Given the description of an element on the screen output the (x, y) to click on. 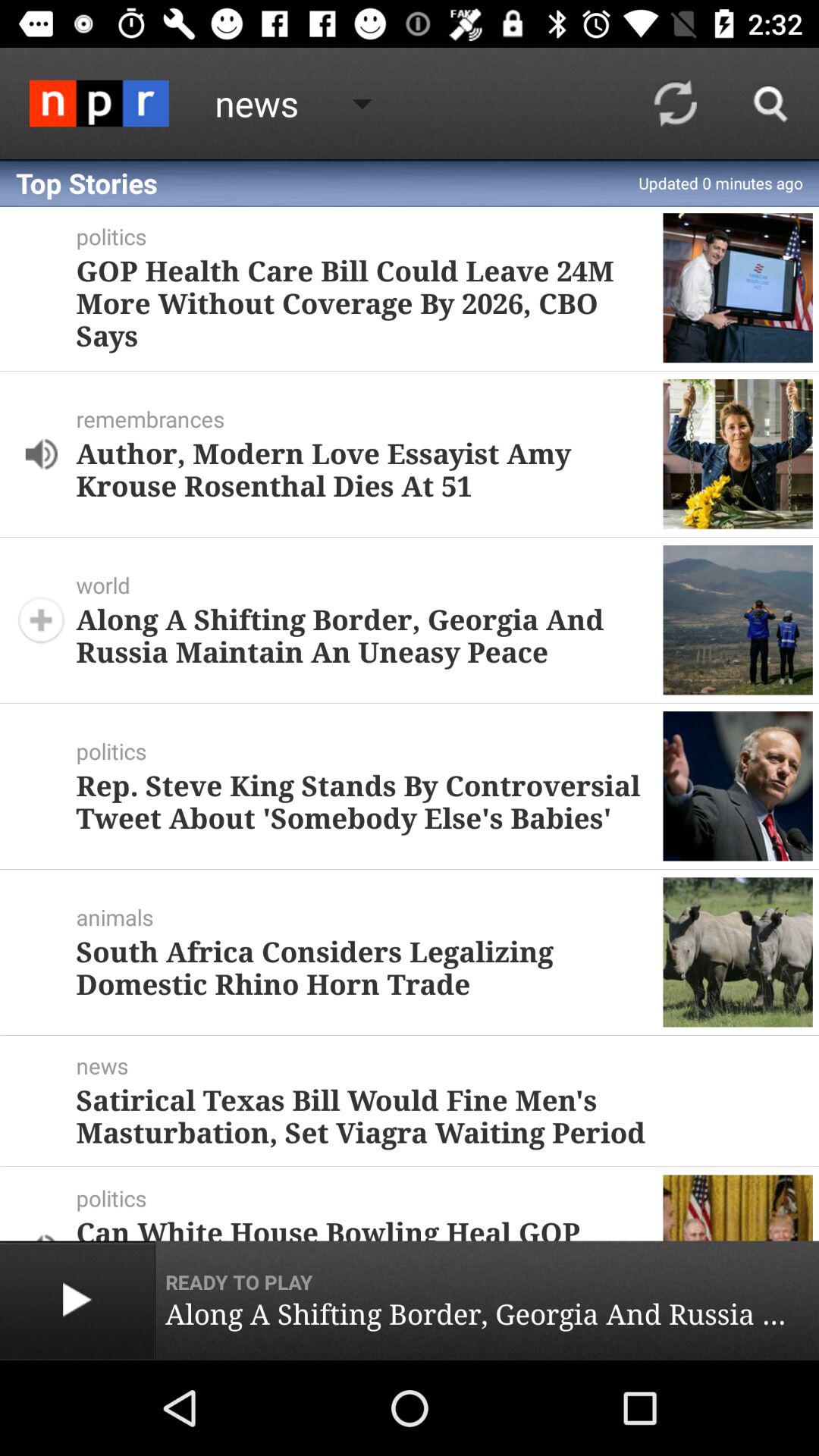
tap the icon above animals (363, 801)
